Given the description of an element on the screen output the (x, y) to click on. 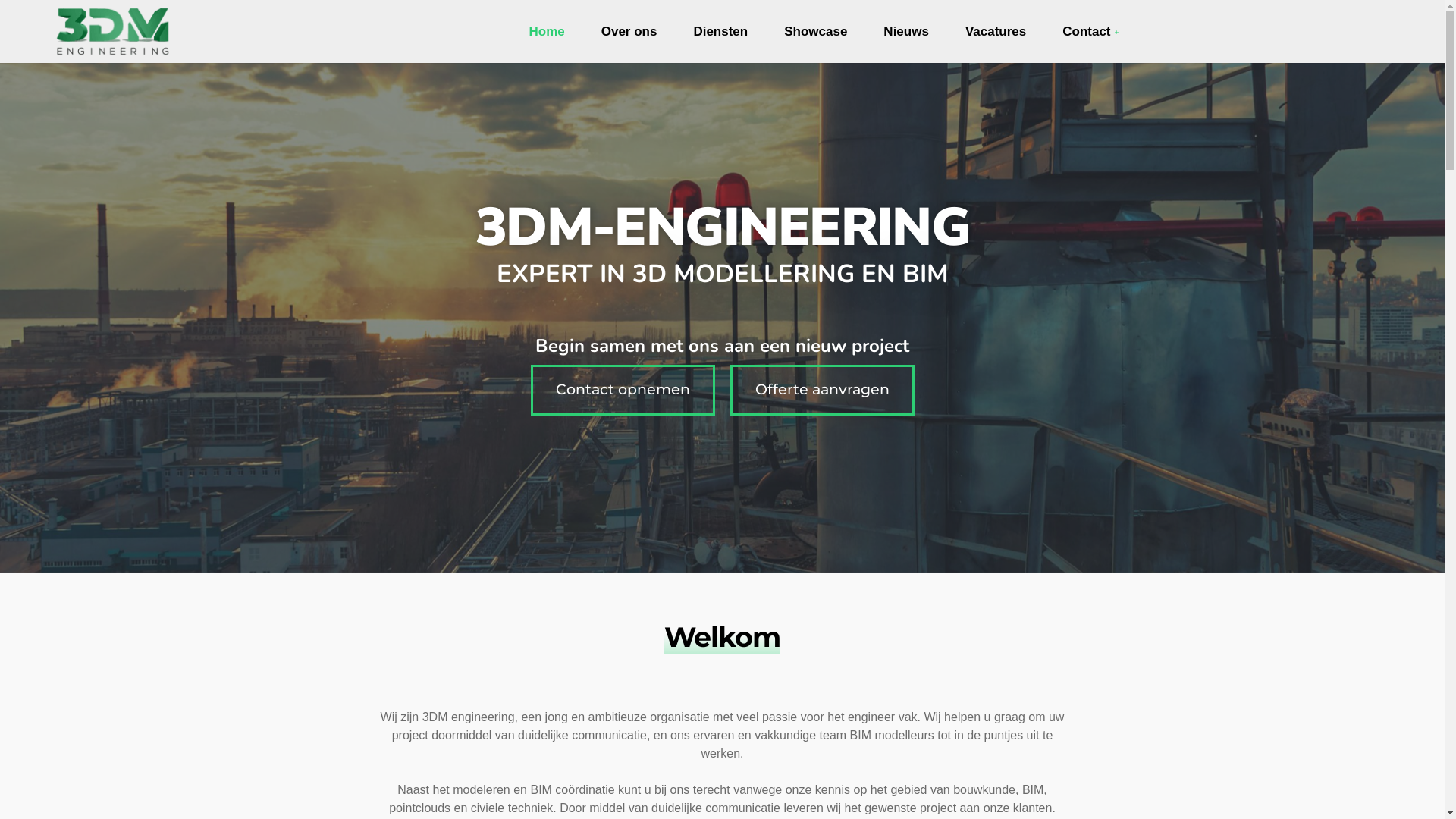
Showcase Element type: text (815, 31)
Offerte aanvragen Element type: text (821, 389)
Vacatures Element type: text (995, 31)
Contact Element type: text (1092, 31)
Nieuws Element type: text (905, 31)
Over ons Element type: text (629, 31)
Diensten Element type: text (720, 31)
Contact opnemen Element type: text (622, 389)
Home Element type: text (546, 31)
